Given the description of an element on the screen output the (x, y) to click on. 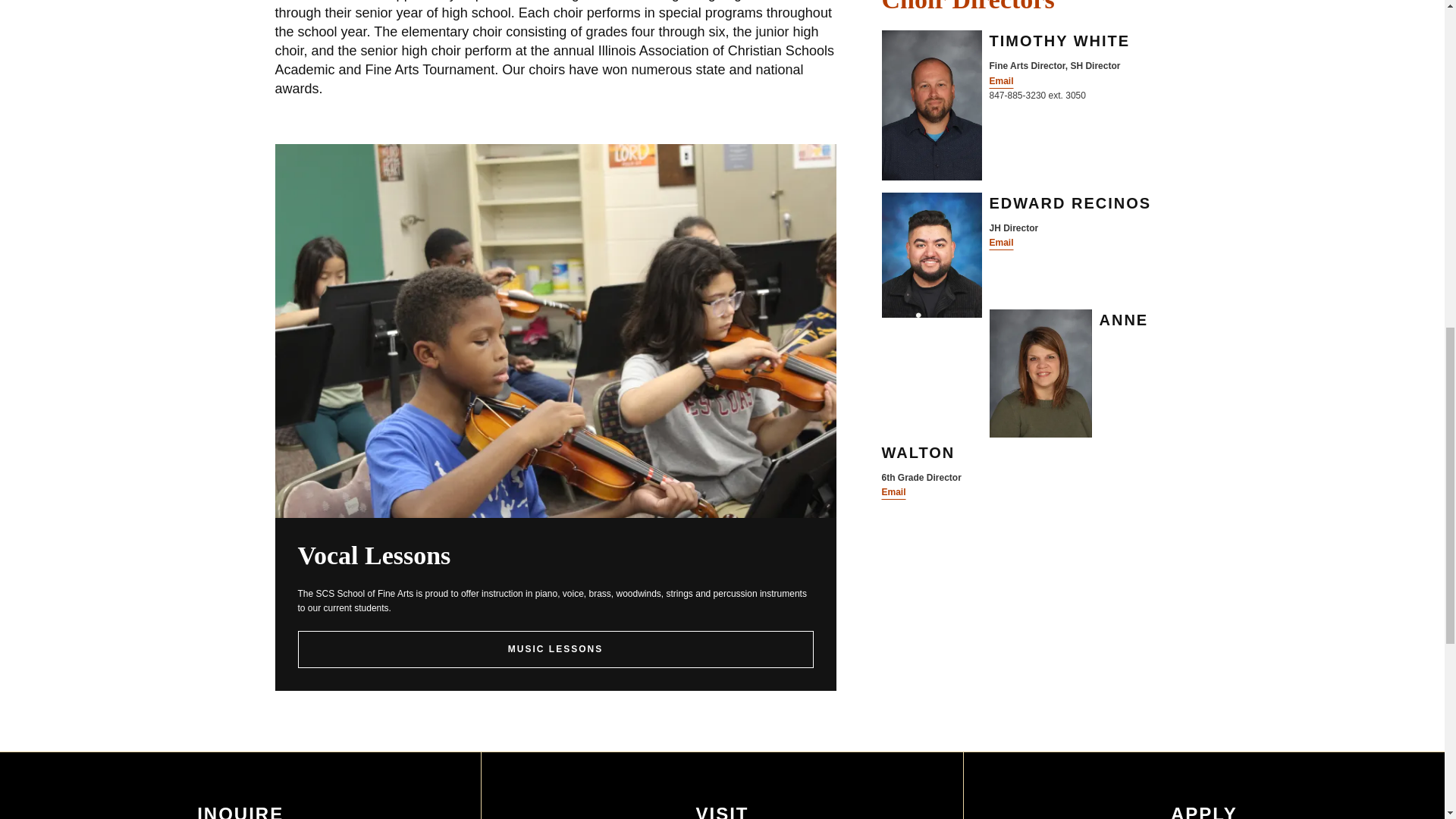
Email (1000, 242)
